Given the description of an element on the screen output the (x, y) to click on. 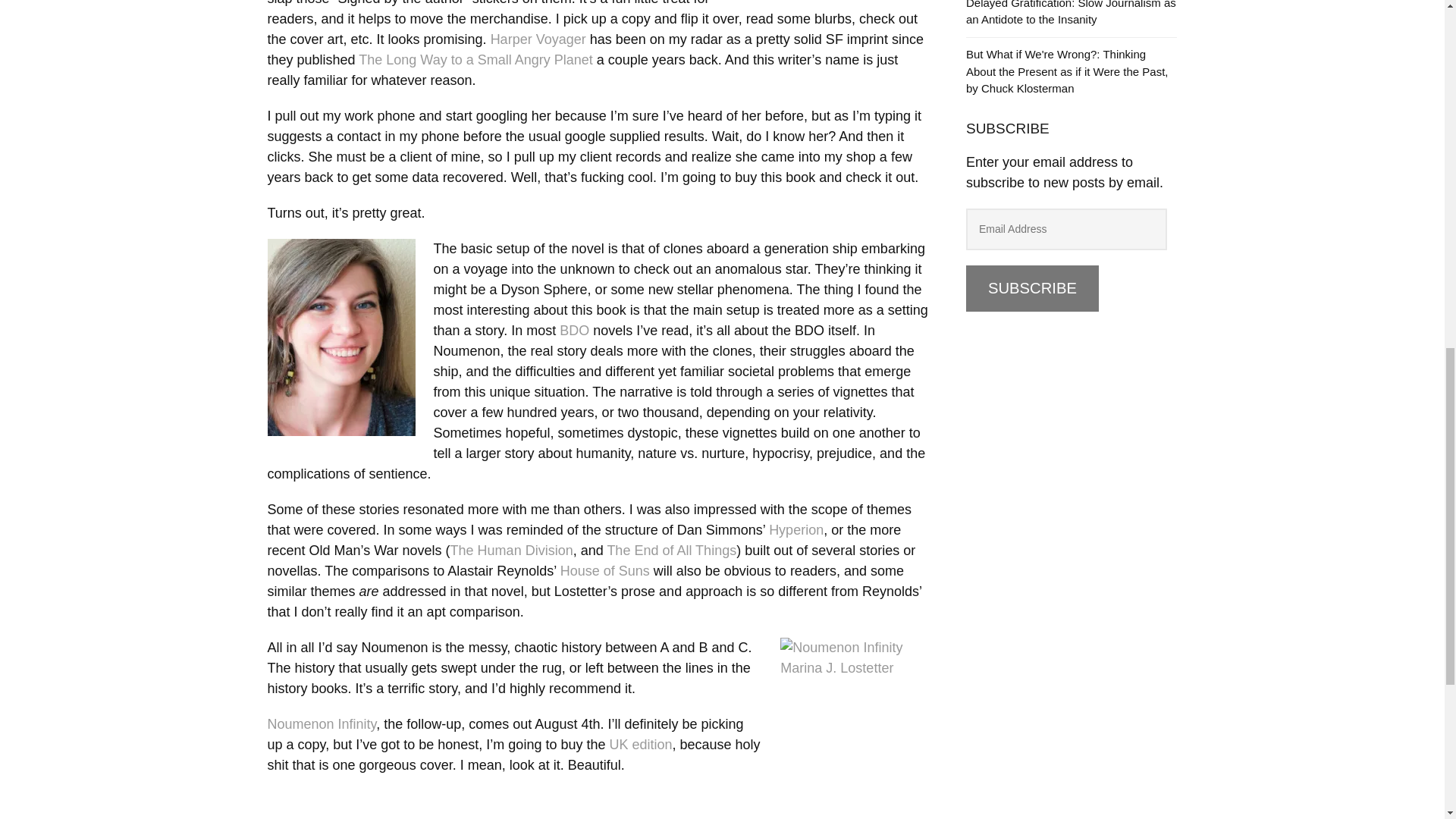
Noumenon Infinity (320, 724)
BDO (574, 330)
UK edition (639, 744)
The End of All Things (671, 549)
The Long Way to a Small Angry Planet (475, 59)
Hyperion (796, 529)
SUBSCRIBE (1032, 288)
The Human Division (511, 549)
